Given the description of an element on the screen output the (x, y) to click on. 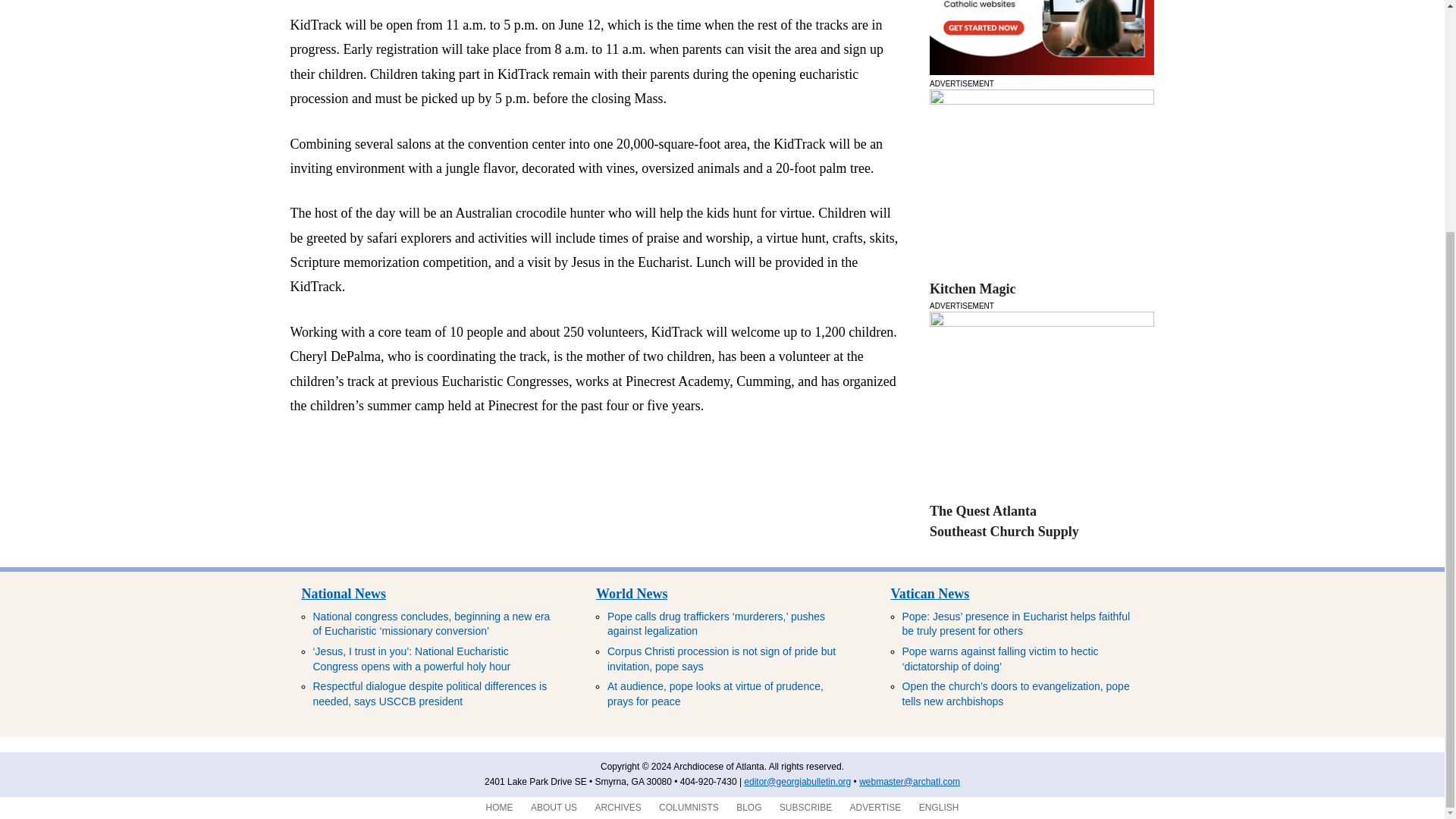
English (938, 807)
